Given the description of an element on the screen output the (x, y) to click on. 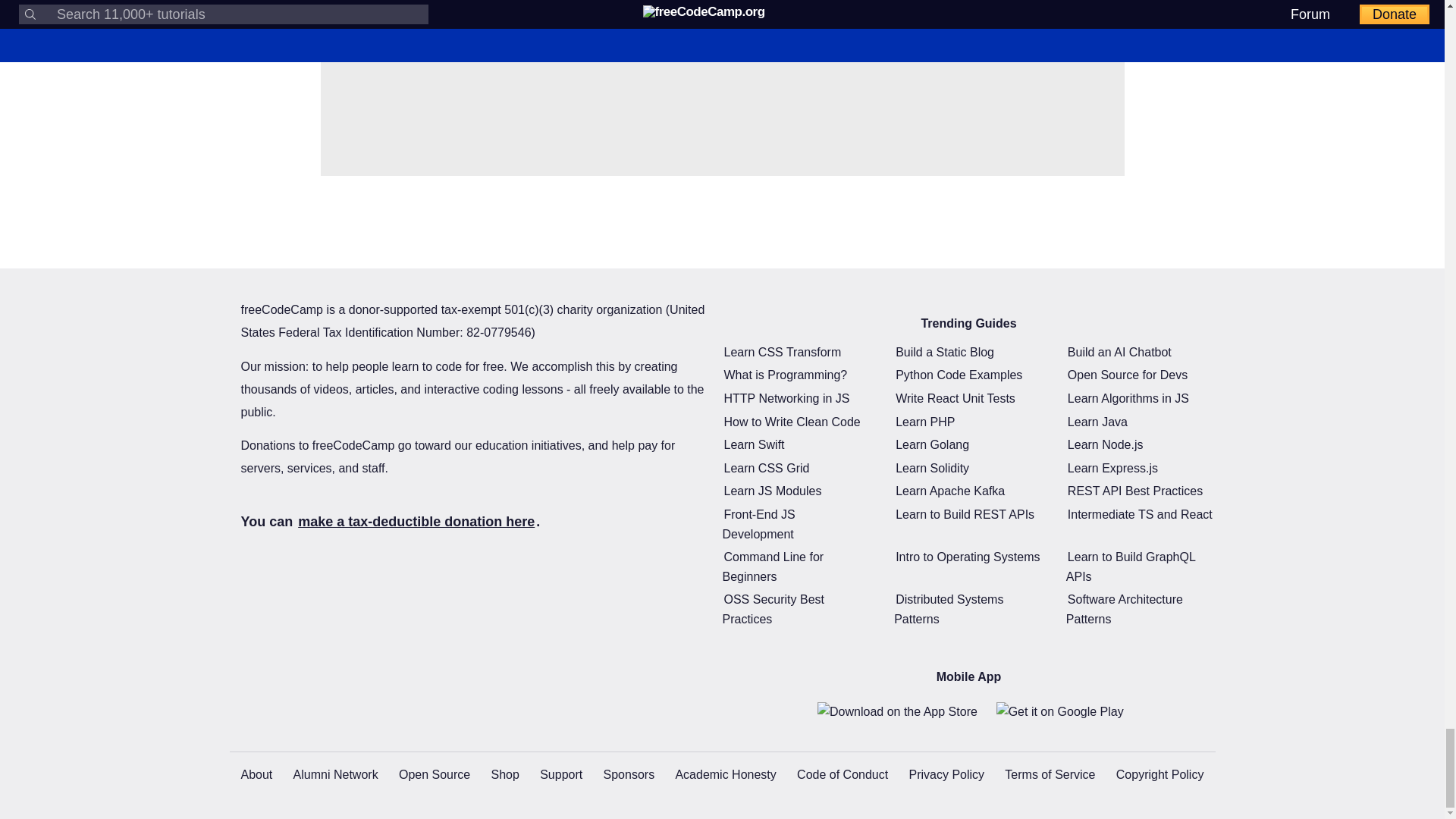
Intermediate TS and React (1139, 514)
Write React Unit Tests (954, 398)
Learn JS Modules (772, 490)
Learn Java (1097, 421)
Open Source for Devs (1127, 374)
Learn to Build REST APIs (964, 514)
Learn PHP (924, 421)
Learn Algorithms in JS (1128, 398)
How to Write Clean Code (791, 421)
Learn CSS Transform (782, 351)
